Given the description of an element on the screen output the (x, y) to click on. 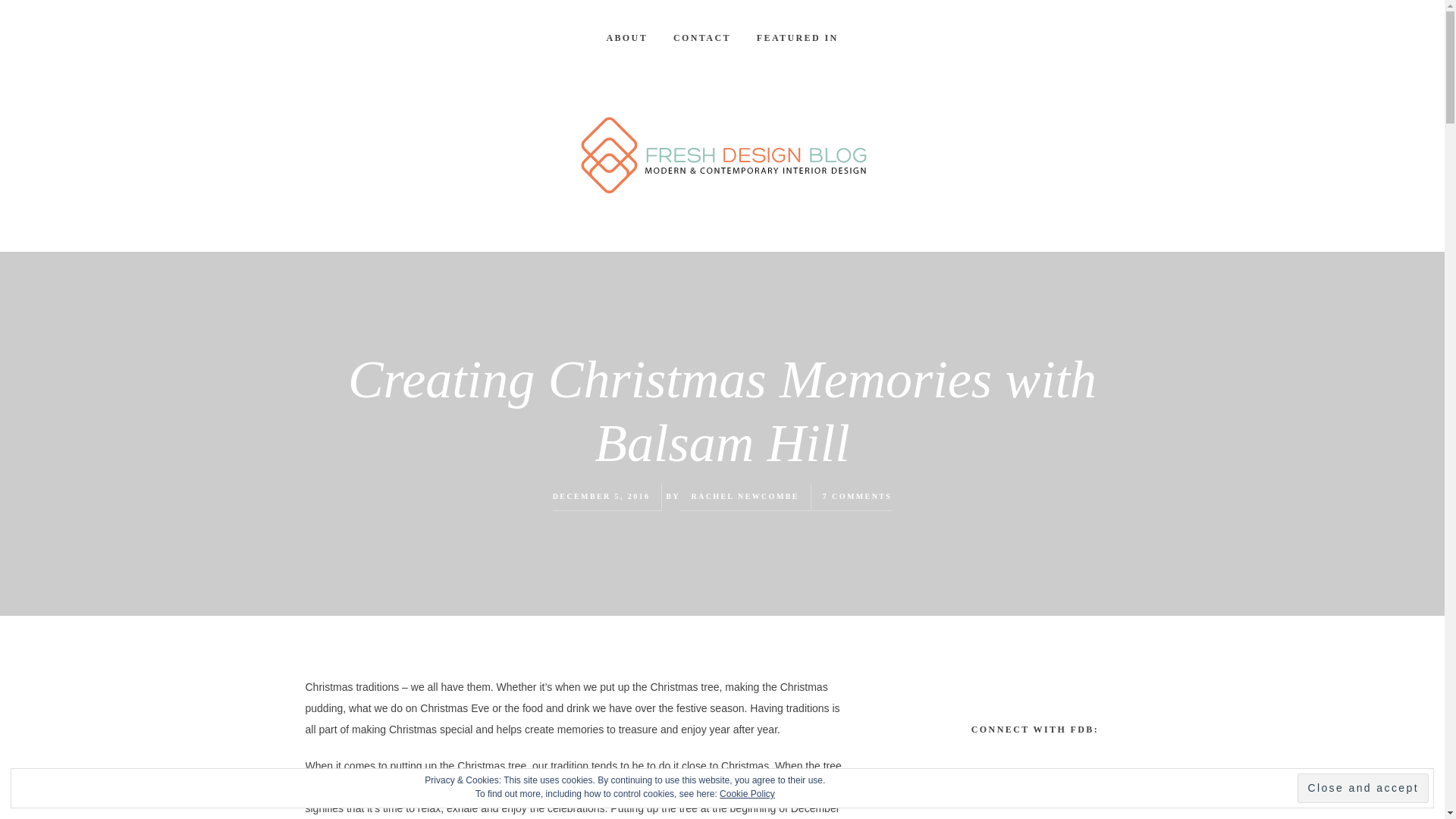
7 COMMENTS (857, 496)
CONTACT (702, 38)
Close and accept (1362, 788)
FEATURED IN (797, 38)
RACHEL NEWCOMBE (745, 496)
Fresh Design Blog (721, 156)
